Given the description of an element on the screen output the (x, y) to click on. 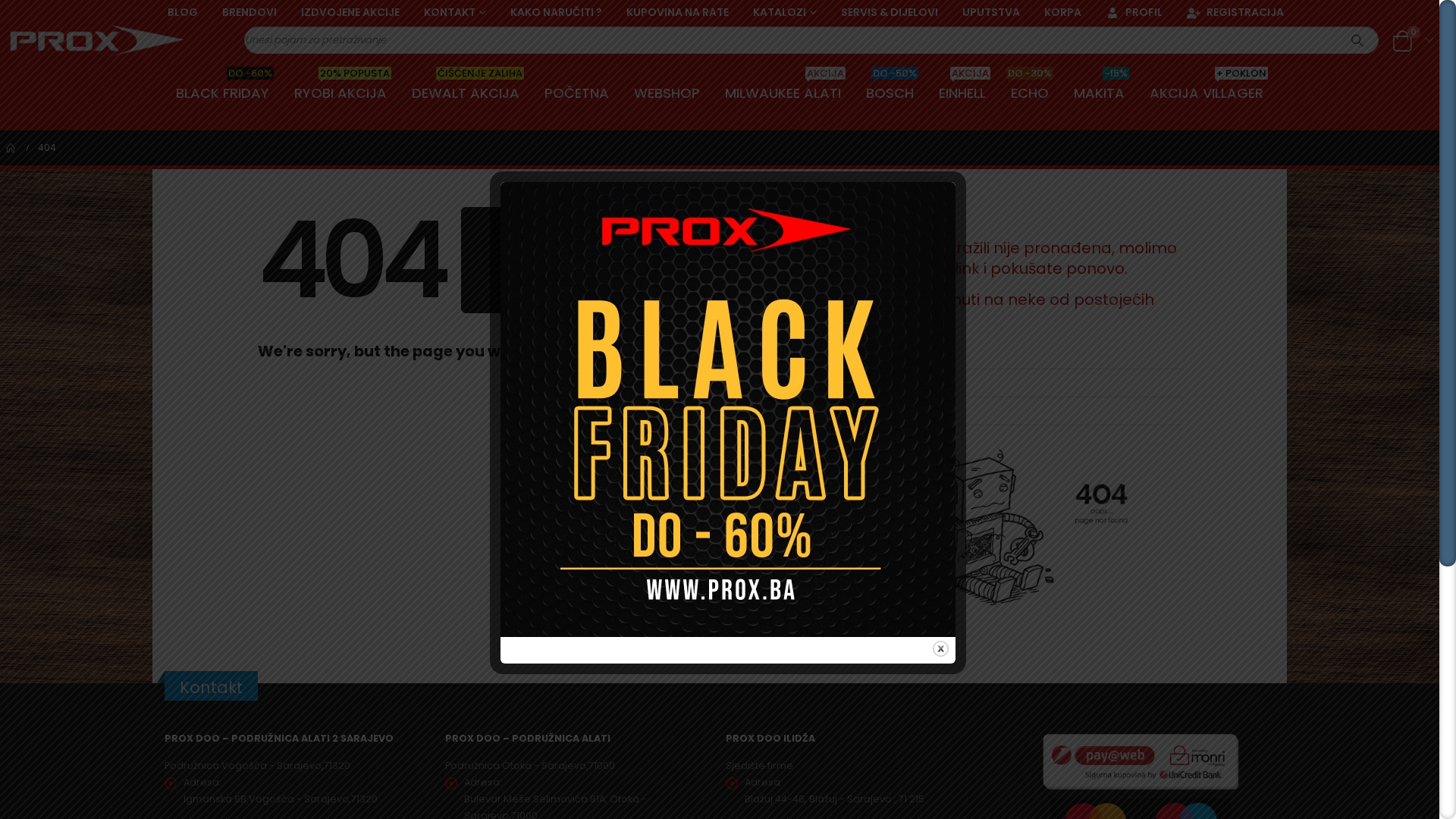
Go to Home Page Element type: hover (11, 147)
BRENDOVI Element type: text (249, 11)
Search Element type: hover (1357, 40)
BLACK FRIDAY
DO -60% Element type: text (222, 93)
Close Element type: hover (940, 648)
Kontakt Element type: text (999, 383)
KORPA Element type: text (1062, 11)
PROFIL Element type: text (1133, 11)
KONTAKT Element type: text (454, 11)
REGISTRACIJA Element type: text (1228, 11)
MAKITA
-15% Element type: text (1098, 93)
ECHO
DO -30% Element type: text (1029, 93)
KUPOVINA NA RATE Element type: text (677, 11)
SERVIS & DIJELOVI Element type: text (889, 11)
EINHELL
AKCIJA Element type: text (961, 93)
IZDVOJENE AKCIJE Element type: text (349, 11)
UPUTSTVA Element type: text (991, 11)
KATALOZI Element type: text (784, 11)
Proizvodi Element type: text (999, 411)
RYOBI AKCIJA
20% POPUSTA Element type: text (340, 93)
WEBSHOP Element type: text (666, 93)
MILWAUKEE ALATI
AKCIJA Element type: text (782, 93)
AKCIJA VILLAGER
+ POKLON Element type: text (1206, 93)
BLOG Element type: text (182, 11)
BOSCH
DO -50% Element type: text (889, 93)
